Given the description of an element on the screen output the (x, y) to click on. 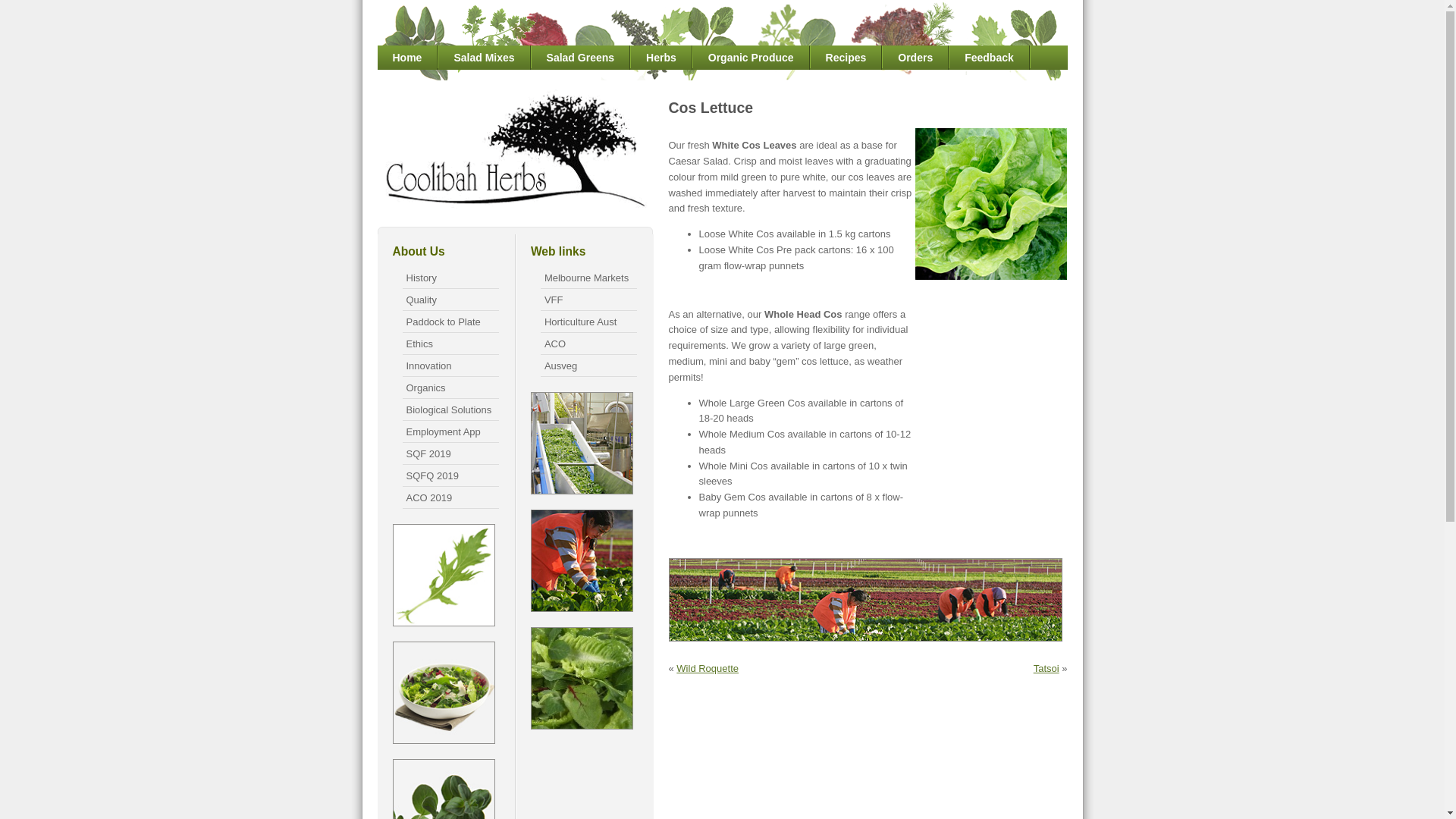
VFF Element type: text (588, 299)
Ethics Element type: text (449, 343)
Herbs Element type: text (661, 57)
Wild Roquette Element type: text (707, 668)
Organic Produce Element type: text (751, 57)
Organics Element type: text (449, 387)
cos Element type: hover (990, 203)
Recipes Element type: text (846, 57)
Tatsoi Element type: text (1046, 668)
Orders Element type: text (915, 57)
Biological Solutions Element type: text (449, 409)
Salad Mixes Element type: text (484, 57)
Paddock to Plate Element type: text (449, 321)
Melbourne Markets Element type: text (588, 277)
Feedback Element type: text (989, 57)
Horticulture Aust Element type: text (588, 321)
SQFQ 2019 Element type: text (449, 475)
ACO Element type: text (588, 343)
SQF 2019 Element type: text (449, 453)
ACO 2019 Element type: text (449, 497)
Quality Element type: text (449, 299)
History Element type: text (449, 277)
Salad Greens Element type: text (580, 57)
Employment App Element type: text (449, 431)
Innovation Element type: text (449, 365)
Ausveg Element type: text (588, 365)
Home Element type: text (407, 57)
